Given the description of an element on the screen output the (x, y) to click on. 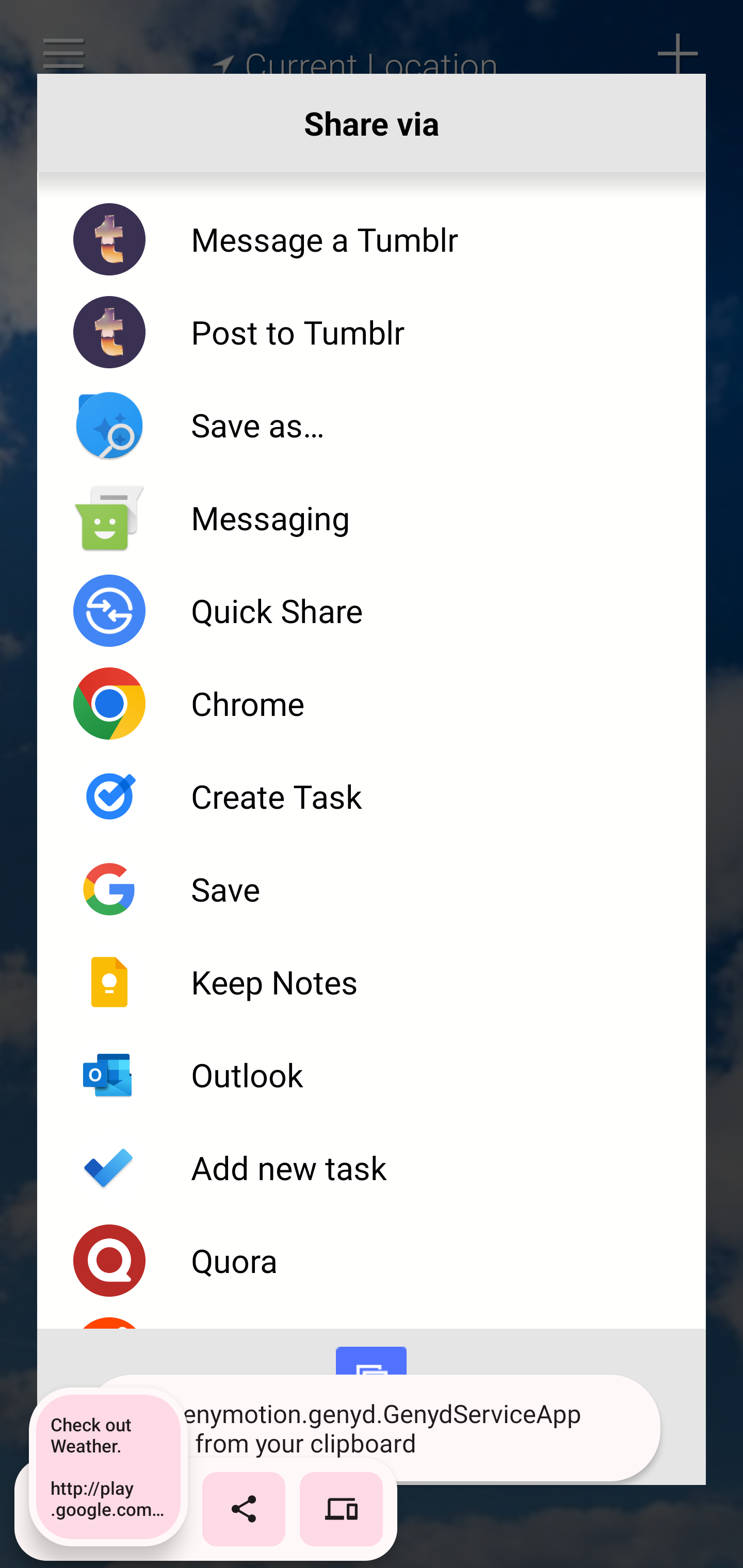
Message a Tumblr (371, 239)
Post to Tumblr (371, 331)
Save as… (371, 424)
Messaging (371, 516)
Quick Share (371, 610)
Chrome (371, 703)
Create Task (371, 796)
Save (371, 888)
Keep Notes (371, 981)
Outlook (371, 1074)
Add new task (371, 1167)
Quora (371, 1260)
